Given the description of an element on the screen output the (x, y) to click on. 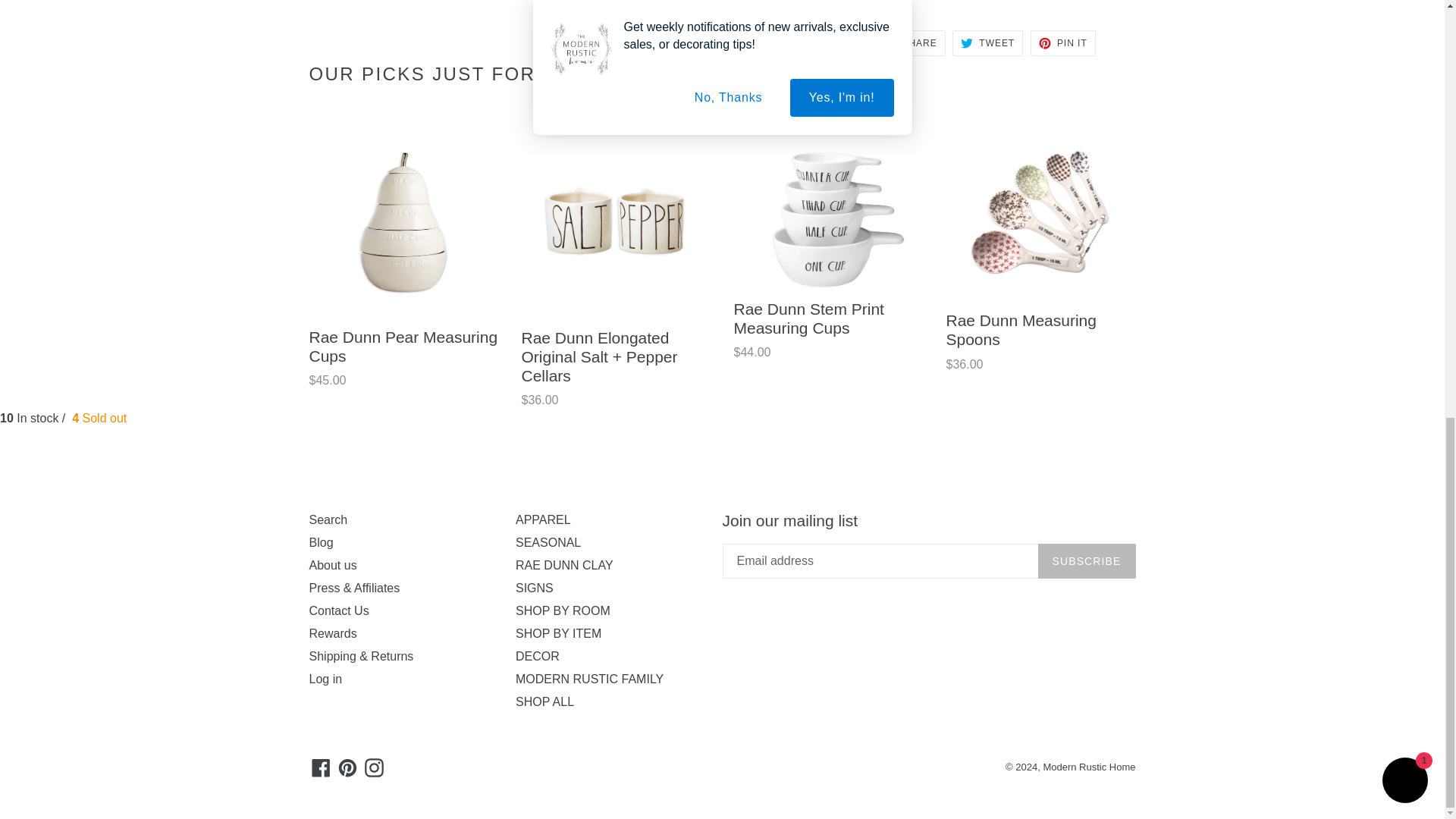
Modern Rustic Home on Pinterest (347, 766)
Modern Rustic Home on Facebook (320, 766)
Pin on Pinterest (1063, 43)
Tweet on Twitter (987, 43)
Modern Rustic Home on Instagram (373, 766)
Share on Facebook (909, 43)
